Given the description of an element on the screen output the (x, y) to click on. 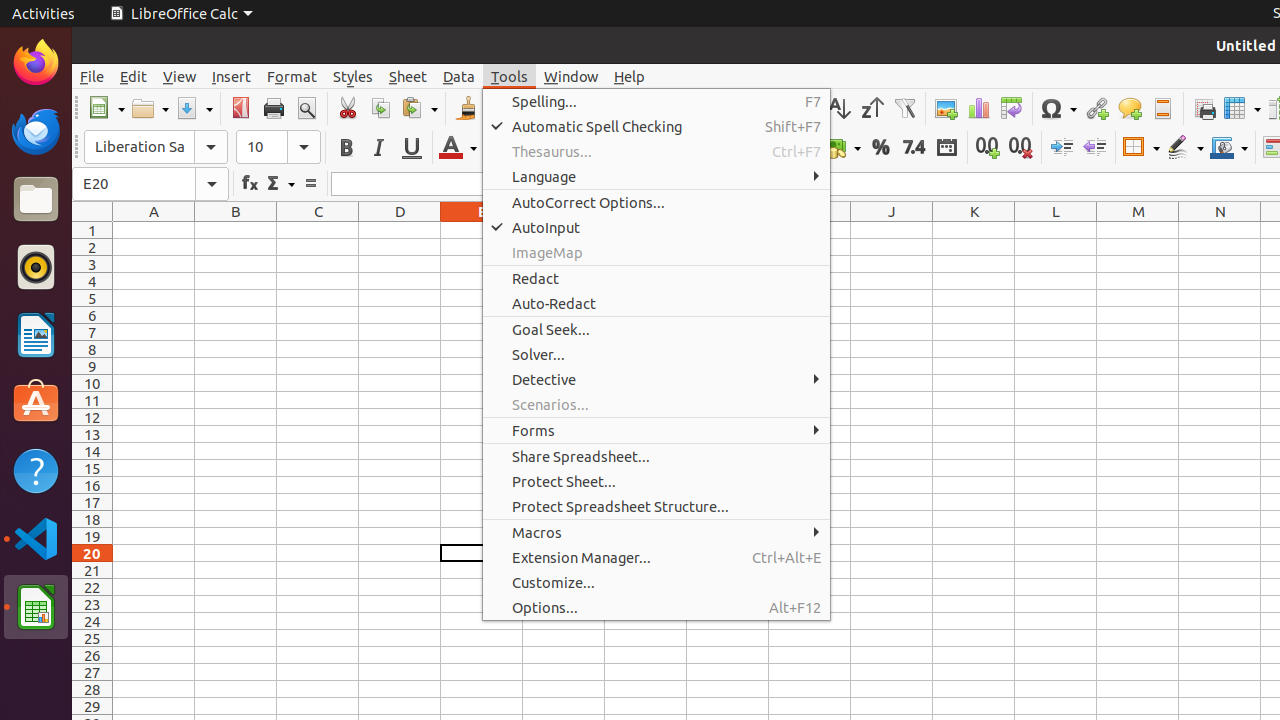
New Element type: push-button (106, 108)
C1 Element type: table-cell (318, 230)
Percent Element type: push-button (880, 147)
AutoFilter Element type: push-button (904, 108)
Add Decimal Place Element type: push-button (987, 147)
